Given the description of an element on the screen output the (x, y) to click on. 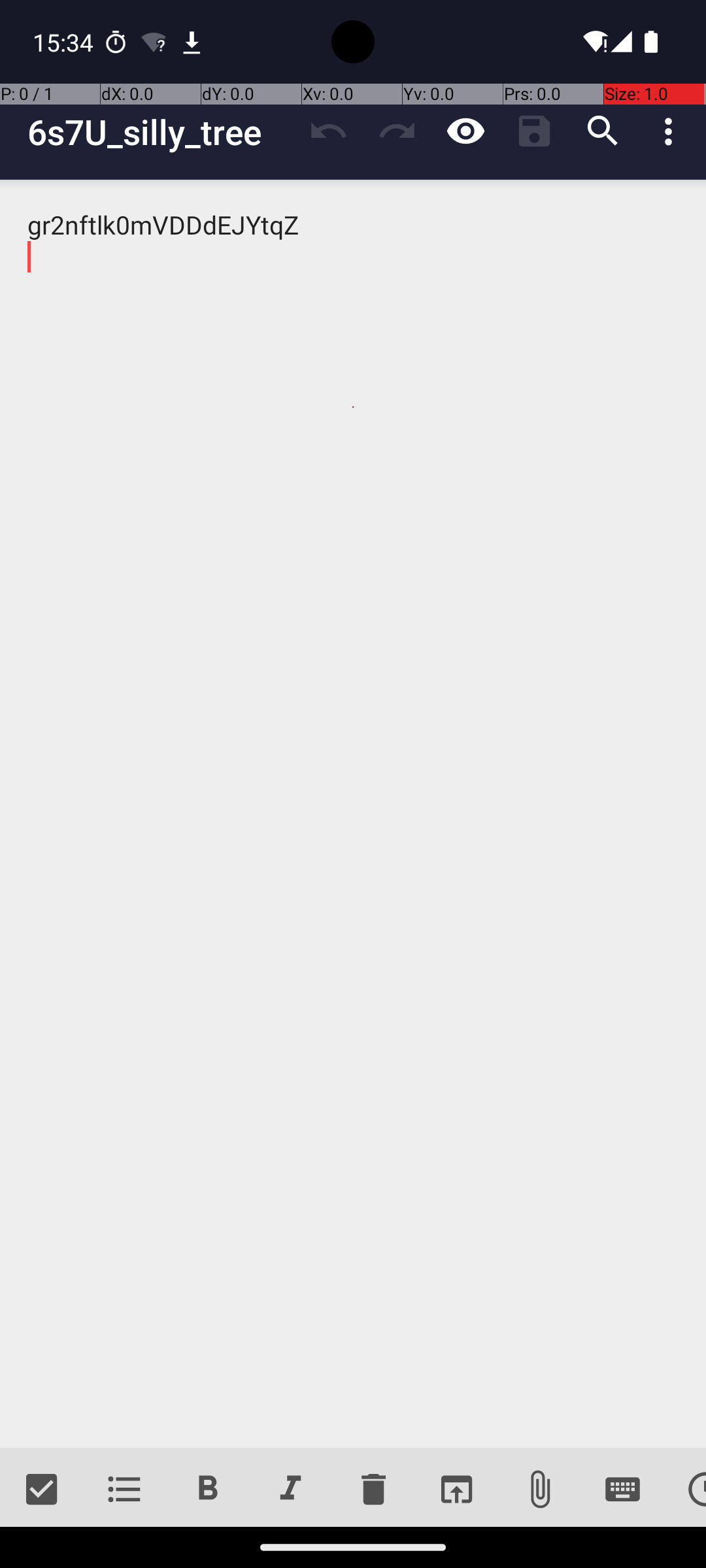
6s7U_silly_tree Element type: android.widget.TextView (160, 131)
gr2nftlk0mVDDdEJYtqZ
 Element type: android.widget.EditText (353, 813)
